Given the description of an element on the screen output the (x, y) to click on. 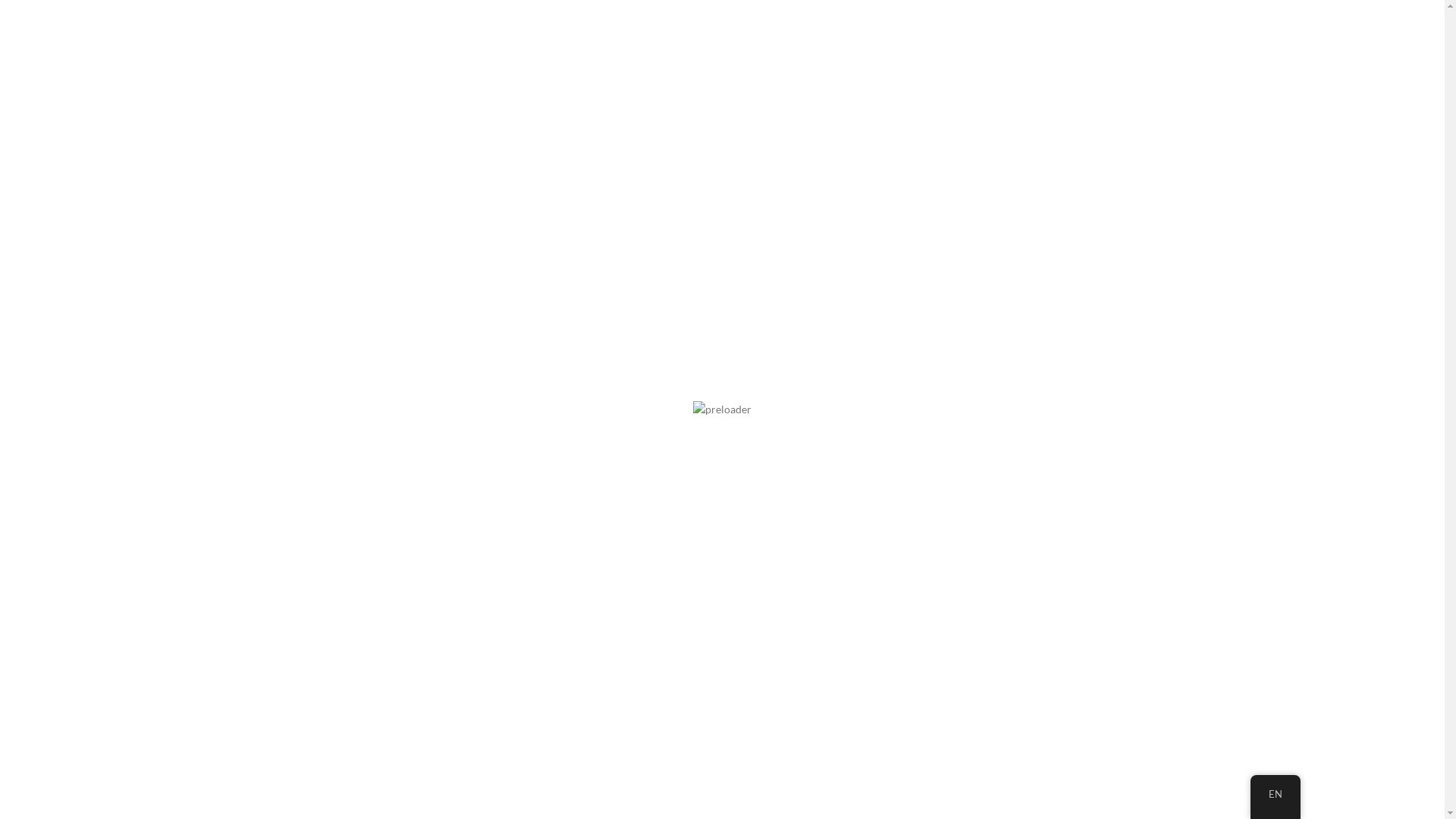
SELECT CATEGORY Element type: text (1220, 62)
0
CHF0.00 Element type: text (1404, 62)
SEARCH Element type: text (1305, 62)
info@asiamarketnyon.ch Element type: text (291, 15)
EN Element type: text (1274, 794)
ACCUEIL Element type: text (28, 171)
My account Element type: hover (1358, 62)
EN SOLDES Element type: text (479, 115)
+022 361 24 39 Element type: text (49, 15)
Politique de retours et remboursements Element type: text (112, 637)
termes et conditions Element type: text (66, 686)
RECETTES Element type: text (573, 115)
Free Delivery above CHF 100 & <15kg Element type: text (1169, 114)
Search for products Element type: hover (731, 62)
SEARCH Element type: text (1412, 278)
Nous contacter Element type: text (54, 788)
Search for products Element type: hover (722, 278)
MEILLEURS VENTES Element type: text (252, 115)
